Given the description of an element on the screen output the (x, y) to click on. 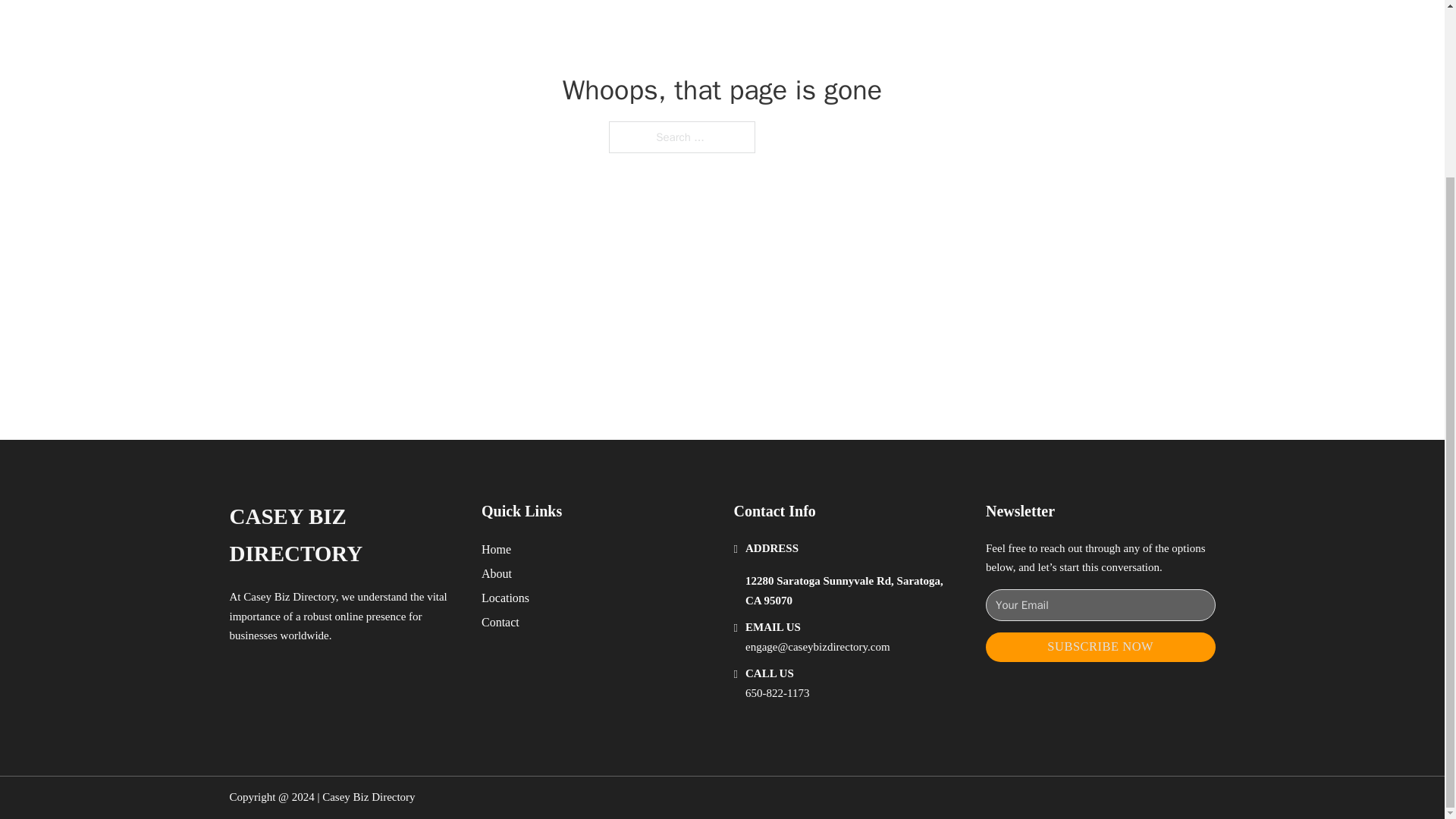
Locations (505, 598)
Contact (500, 621)
About (496, 573)
SUBSCRIBE NOW (1100, 646)
Home (496, 548)
CASEY BIZ DIRECTORY (343, 535)
650-822-1173 (777, 693)
